Given the description of an element on the screen output the (x, y) to click on. 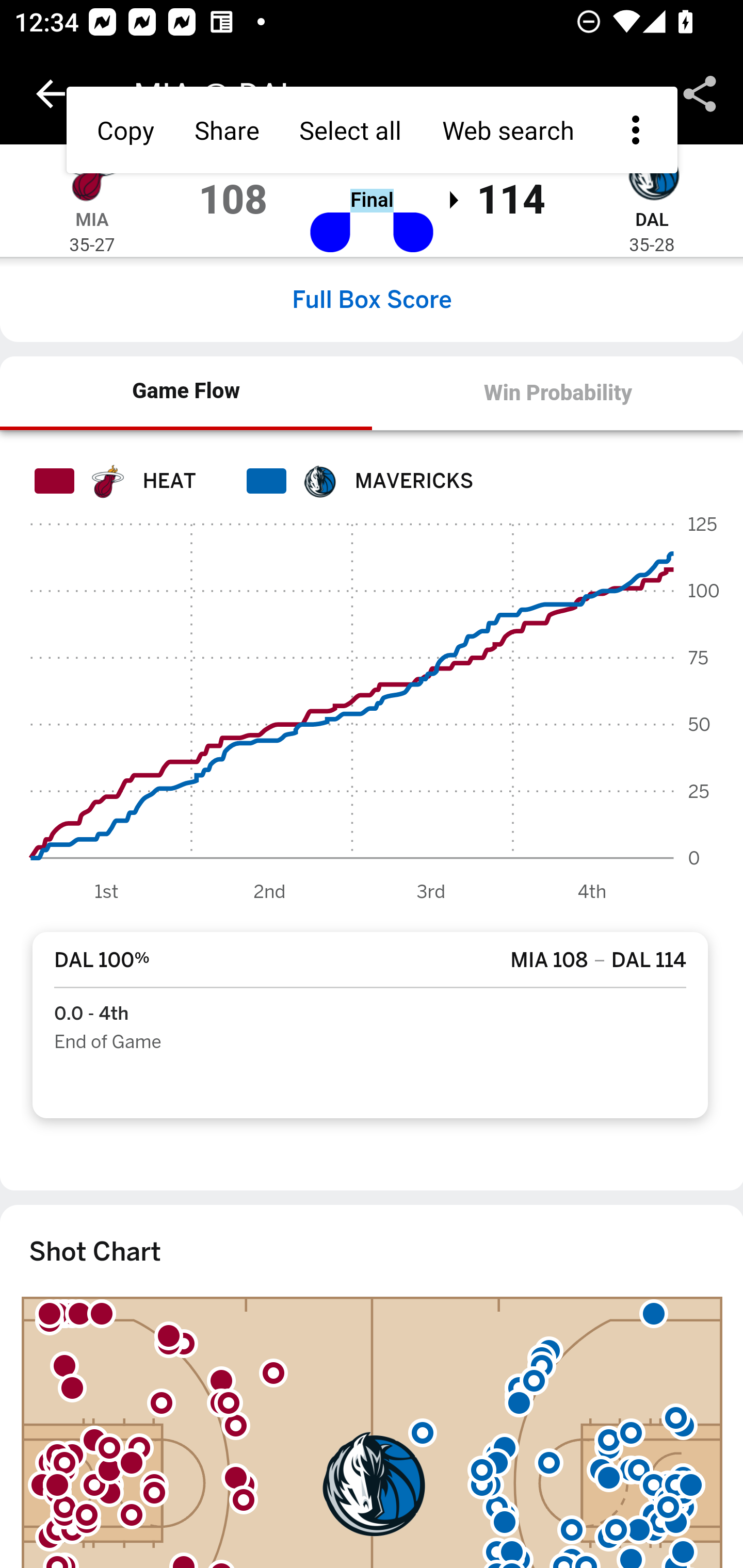
Navigate up (50, 93)
Share (699, 93)
Miami Heat (91, 173)
Dallas Mavericks (651, 173)
MIA (91, 219)
DAL (651, 219)
Full Box Score (371, 299)
Game Flow (186, 391)
Win Probability (557, 393)
Heat (106, 481)
#0064b1 (318, 481)
